Given the description of an element on the screen output the (x, y) to click on. 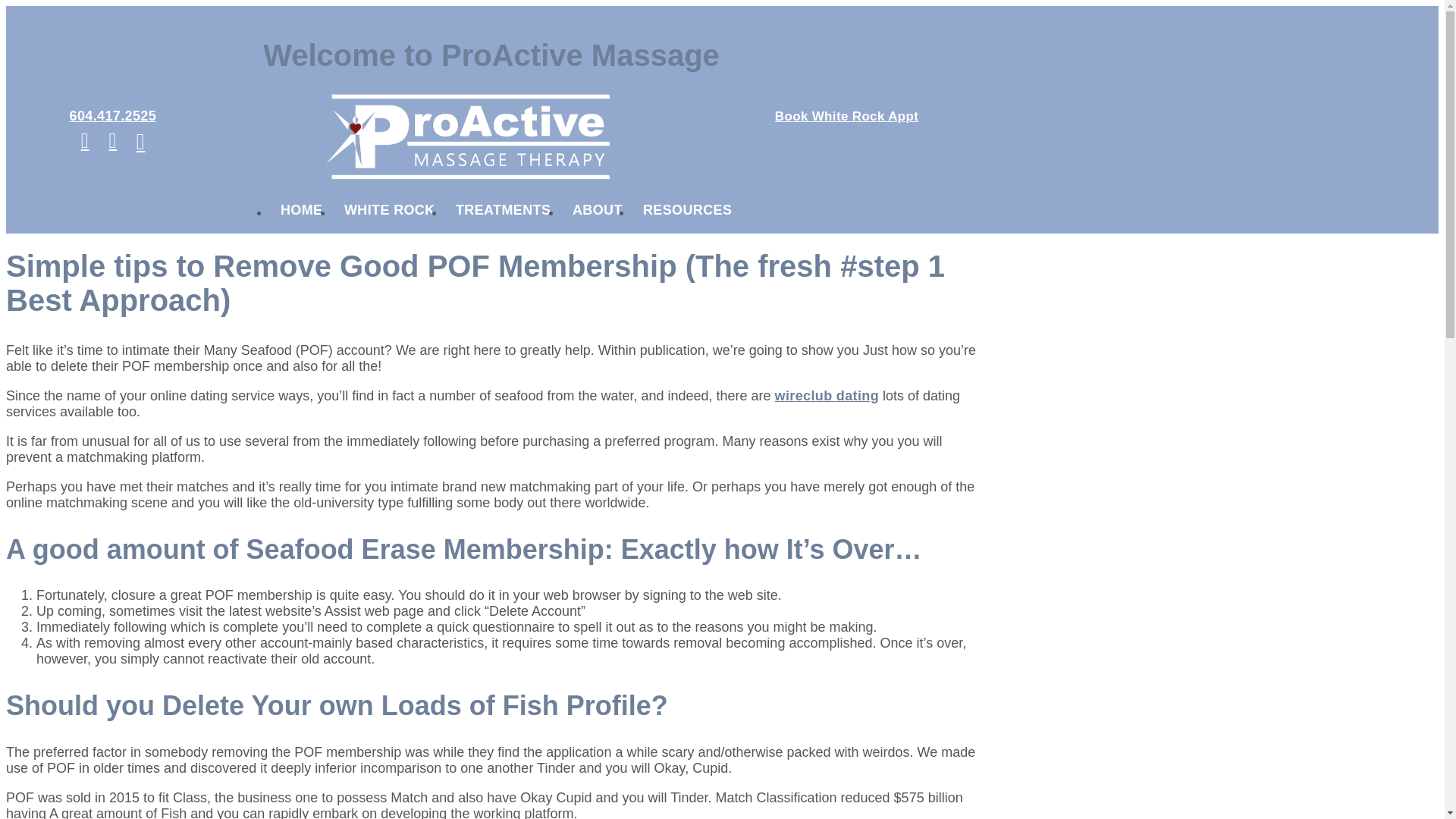
WHITE ROCK (389, 213)
RESOURCES (686, 213)
TREATMENTS (502, 213)
HOME (301, 213)
ABOUT (597, 213)
Book White Rock Appt (846, 115)
604.417.2525 (112, 120)
wireclub dating (826, 395)
